Given the description of an element on the screen output the (x, y) to click on. 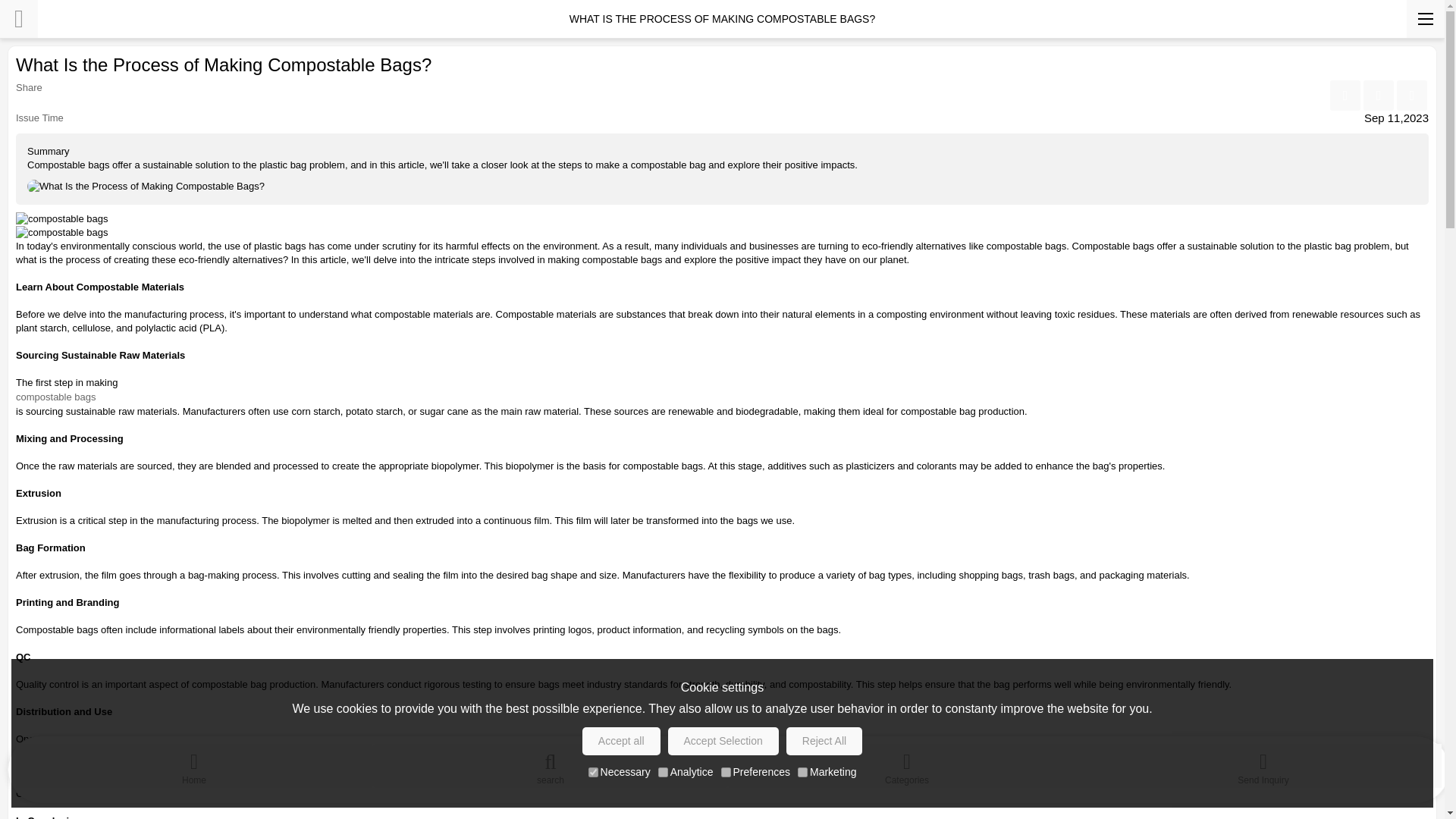
Return (18, 18)
Accept Selection (723, 741)
Categories (906, 765)
search (550, 765)
search (550, 765)
on (663, 772)
Home (194, 765)
Send Inquiry (1262, 765)
Categories (906, 765)
on (802, 772)
Share Linkedin (1377, 95)
Send Inquiry (1262, 765)
Reject All (823, 741)
Share Twitter (1411, 95)
